Given the description of an element on the screen output the (x, y) to click on. 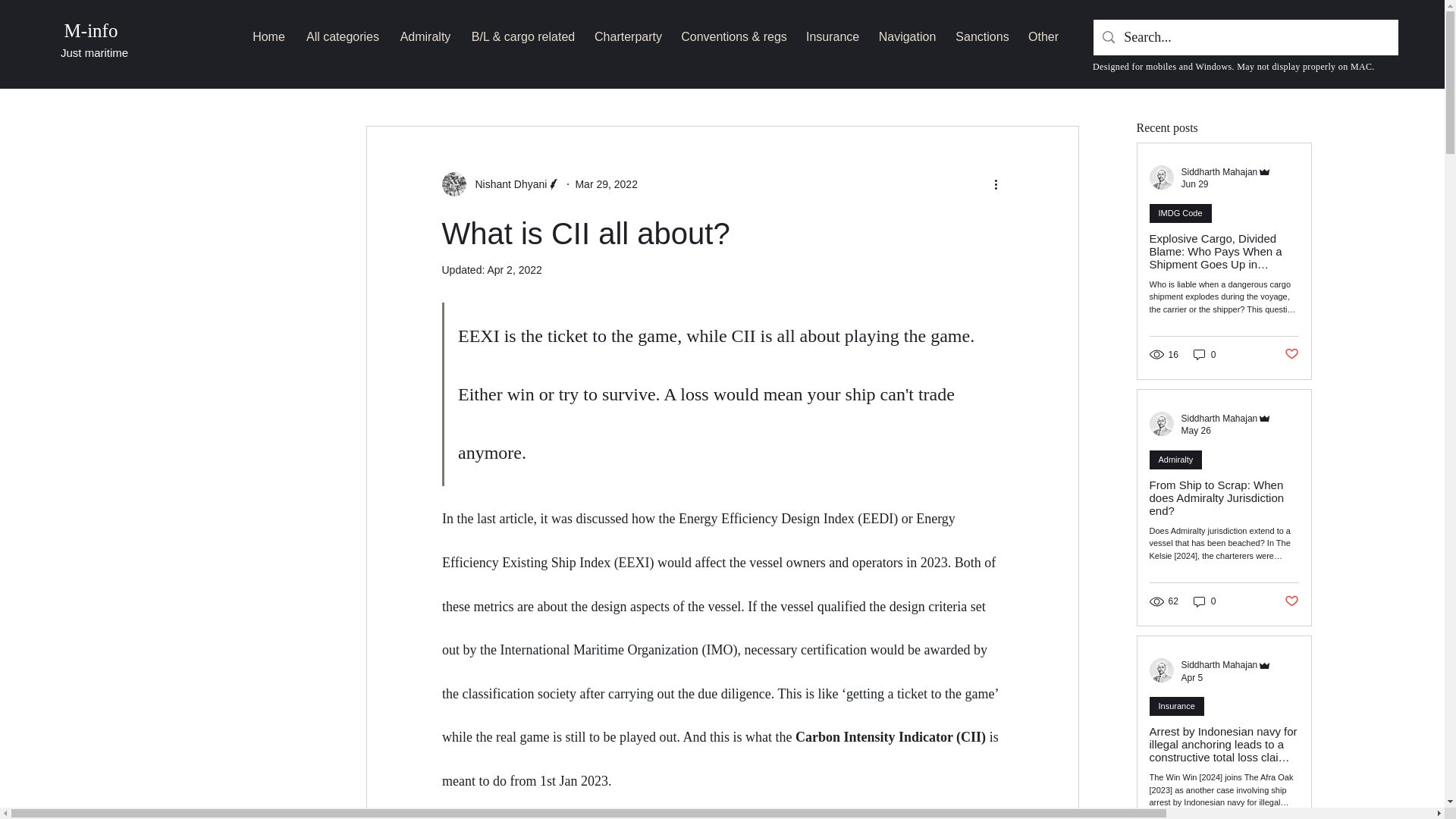
M-info (90, 30)
Charterparty (628, 30)
Apr 5 (1192, 677)
Jun 29 (1194, 184)
Siddharth Mahajan (1218, 172)
Mar 29, 2022 (606, 183)
Insurance (831, 30)
Siddharth Mahajan (1218, 418)
Navigation (906, 30)
May 26 (1195, 430)
Siddharth Mahajan (1218, 665)
Nishant Dhyani (506, 183)
All categories (342, 30)
Admiralty (425, 30)
Apr 2, 2022 (513, 269)
